Given the description of an element on the screen output the (x, y) to click on. 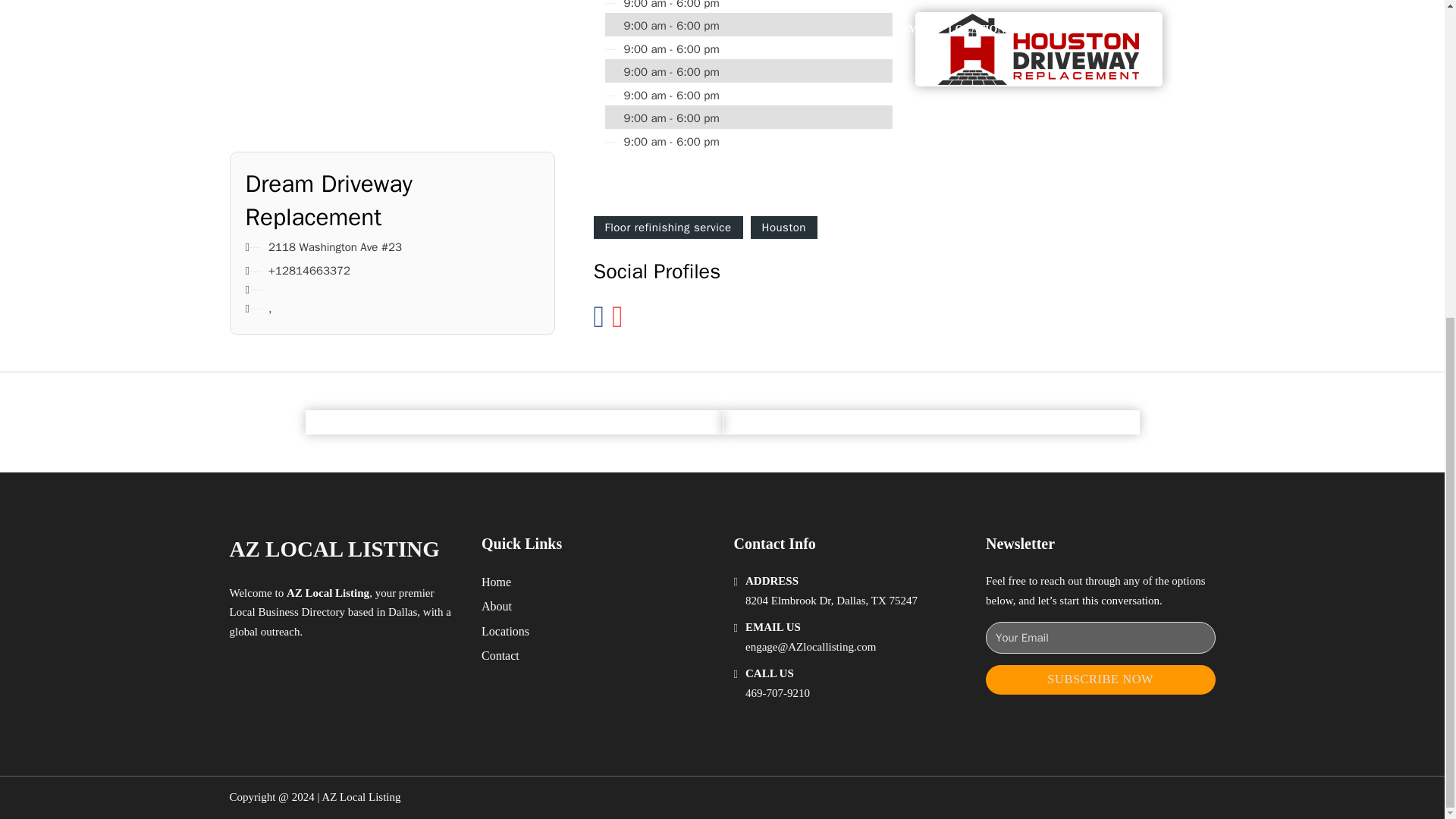
About (496, 606)
Floor refinishing service (667, 227)
469-707-9210 (777, 693)
Contact (500, 655)
AZ LOCAL LISTING (333, 549)
Locations (505, 630)
Houston (783, 227)
SUBSCRIBE NOW (1100, 679)
Home (496, 581)
